Given the description of an element on the screen output the (x, y) to click on. 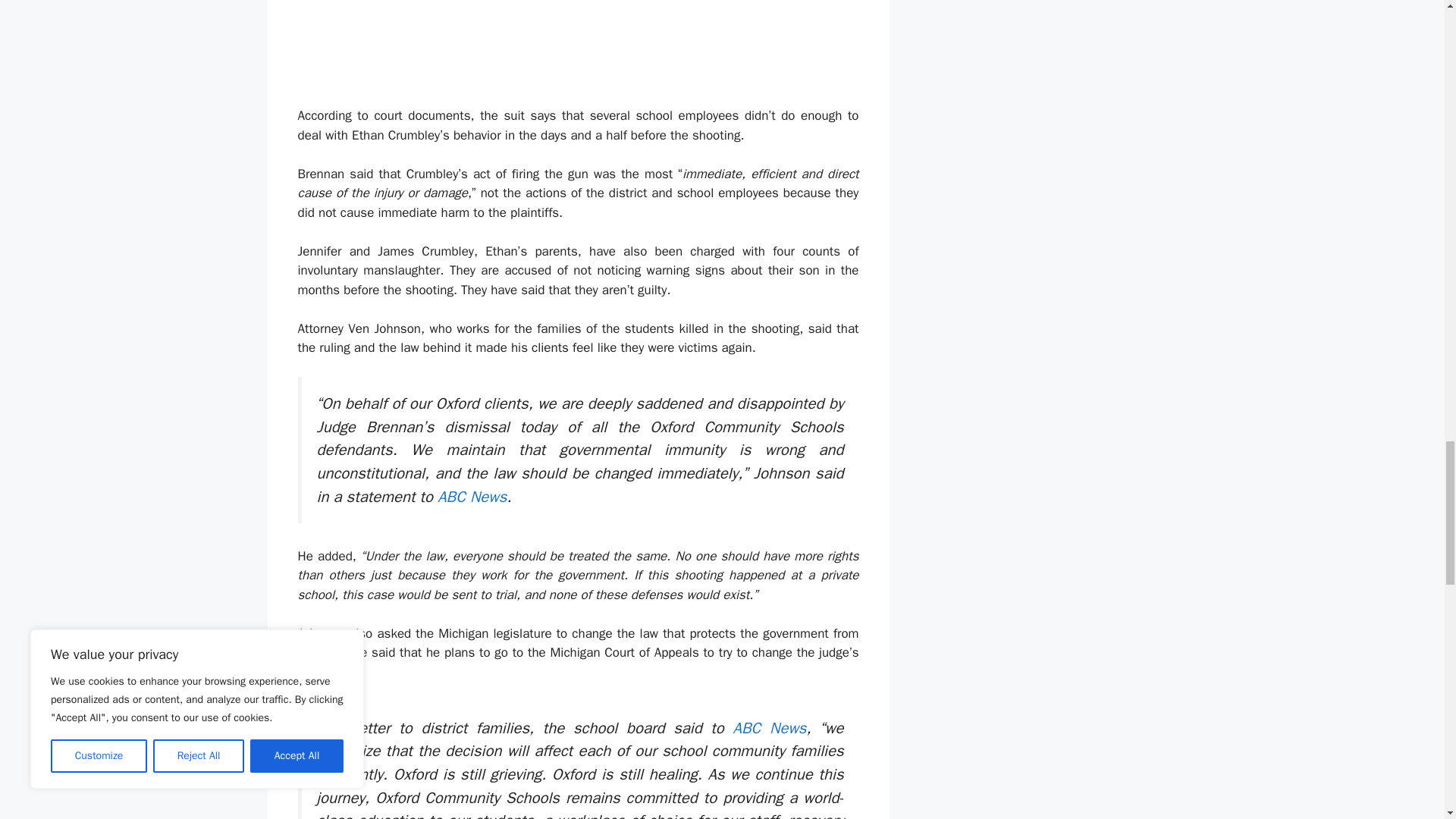
ABC News (769, 727)
Advertisement (682, 49)
ABC News (472, 496)
